Given the description of an element on the screen output the (x, y) to click on. 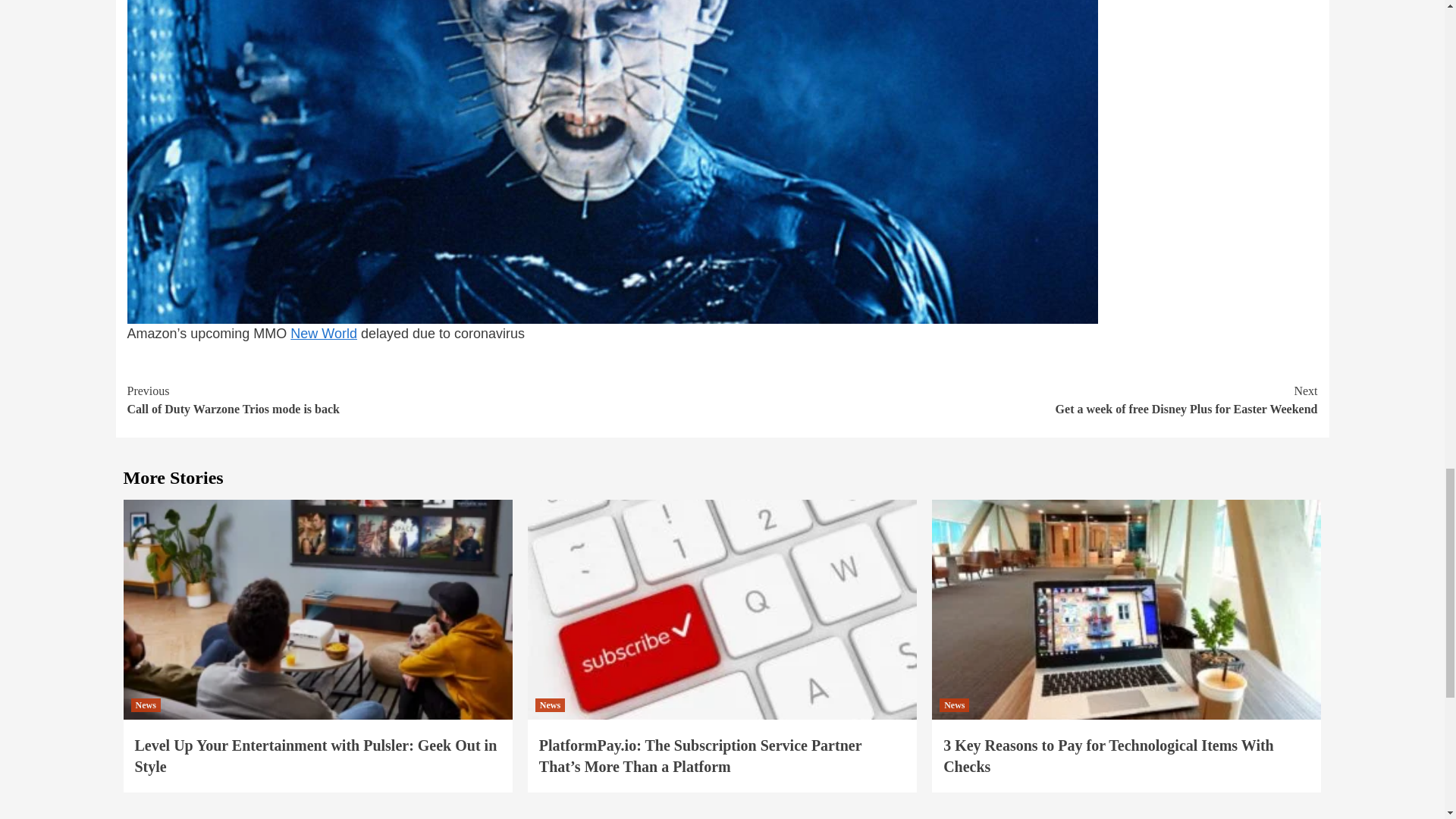
New World (322, 333)
Level Up Your Entertainment with Pulsler: Geek Out in Style (316, 755)
News (1019, 400)
News (425, 400)
3 Key Reasons to Pay for Technological Items With Checks (549, 704)
News (145, 704)
